Given the description of an element on the screen output the (x, y) to click on. 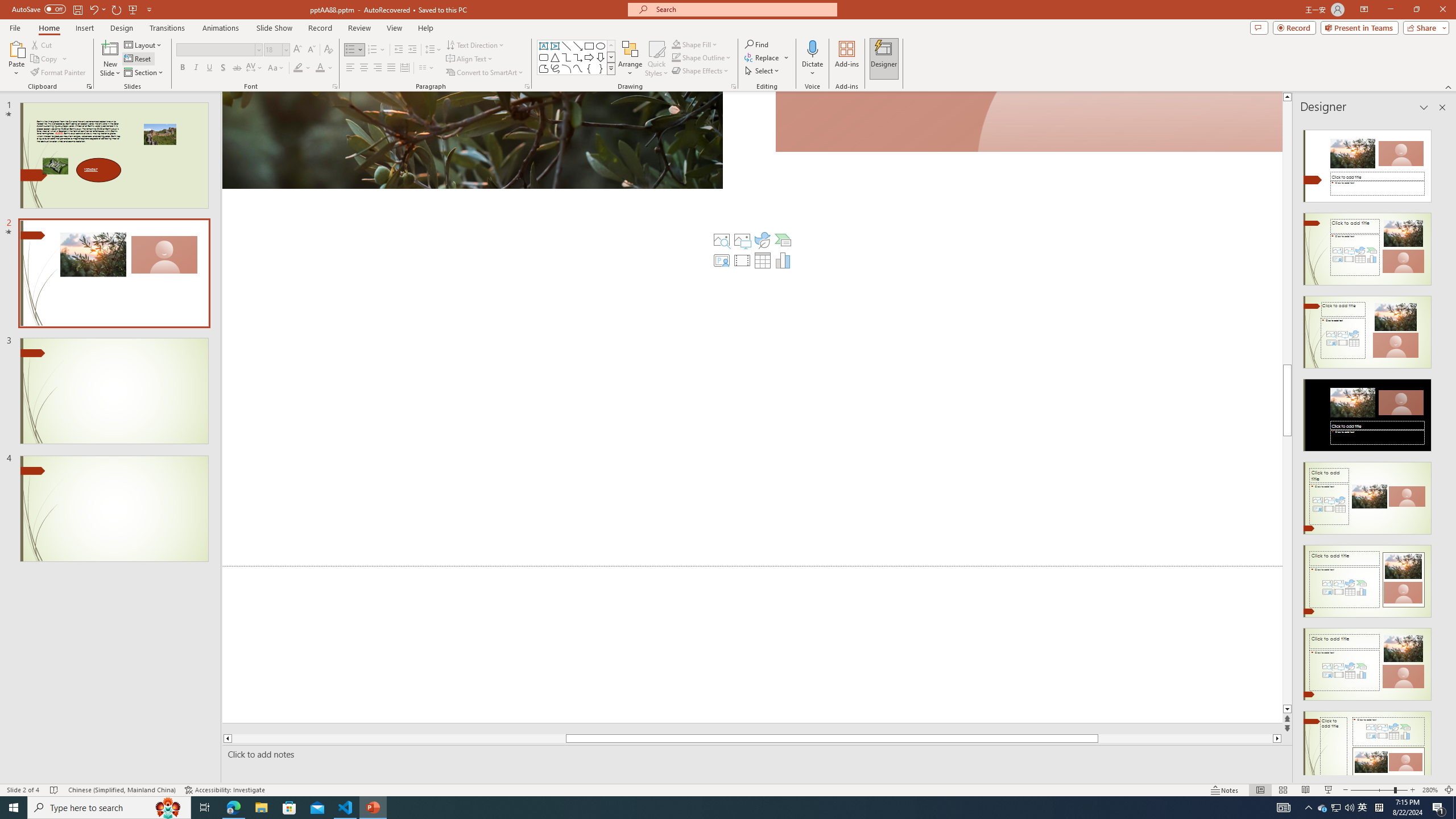
Close up of an olive branch on a sunset (472, 140)
